Given the description of an element on the screen output the (x, y) to click on. 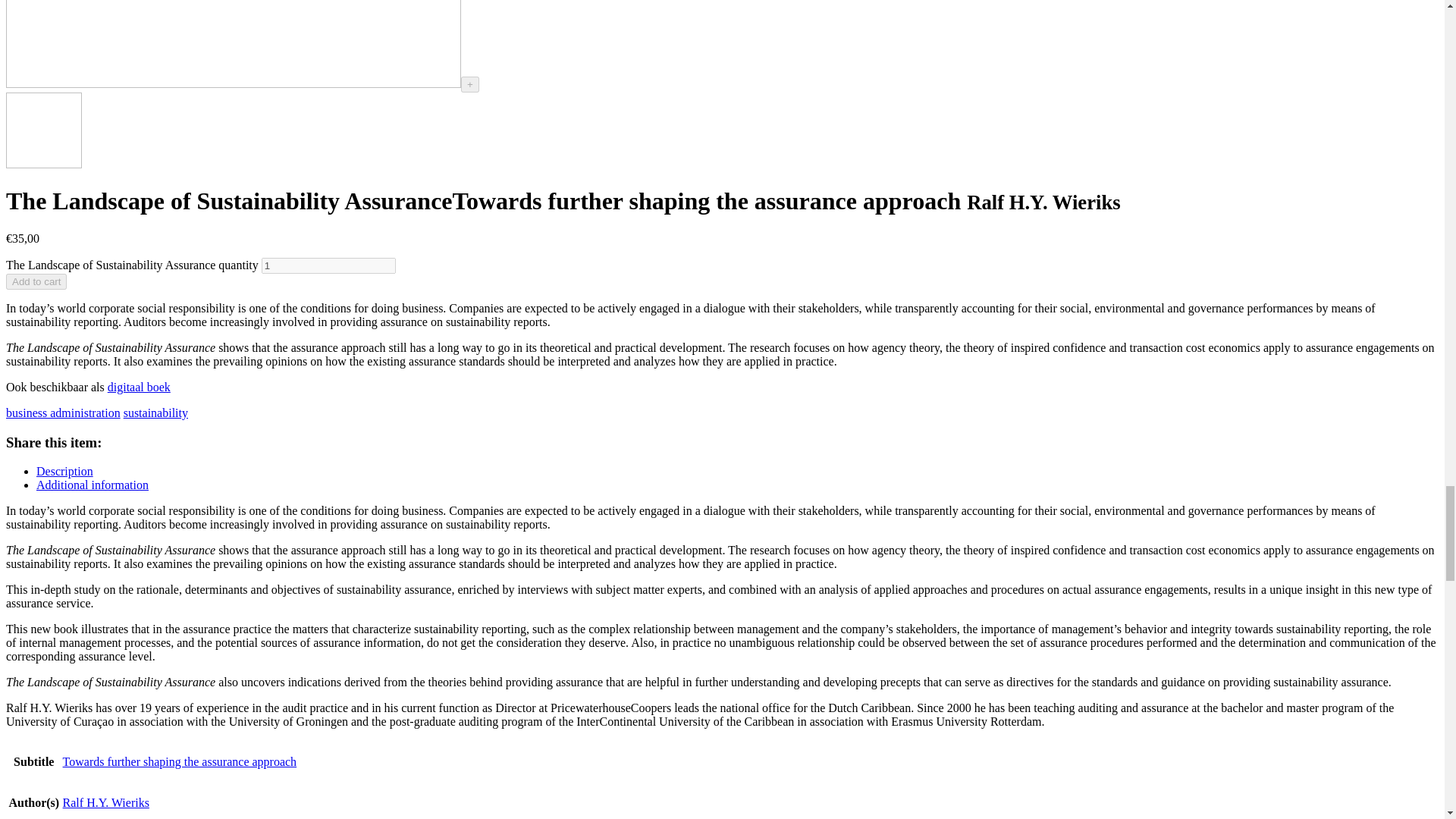
wieriks (43, 130)
wieriks (233, 43)
1 (329, 265)
View full size (470, 84)
